Given the description of an element on the screen output the (x, y) to click on. 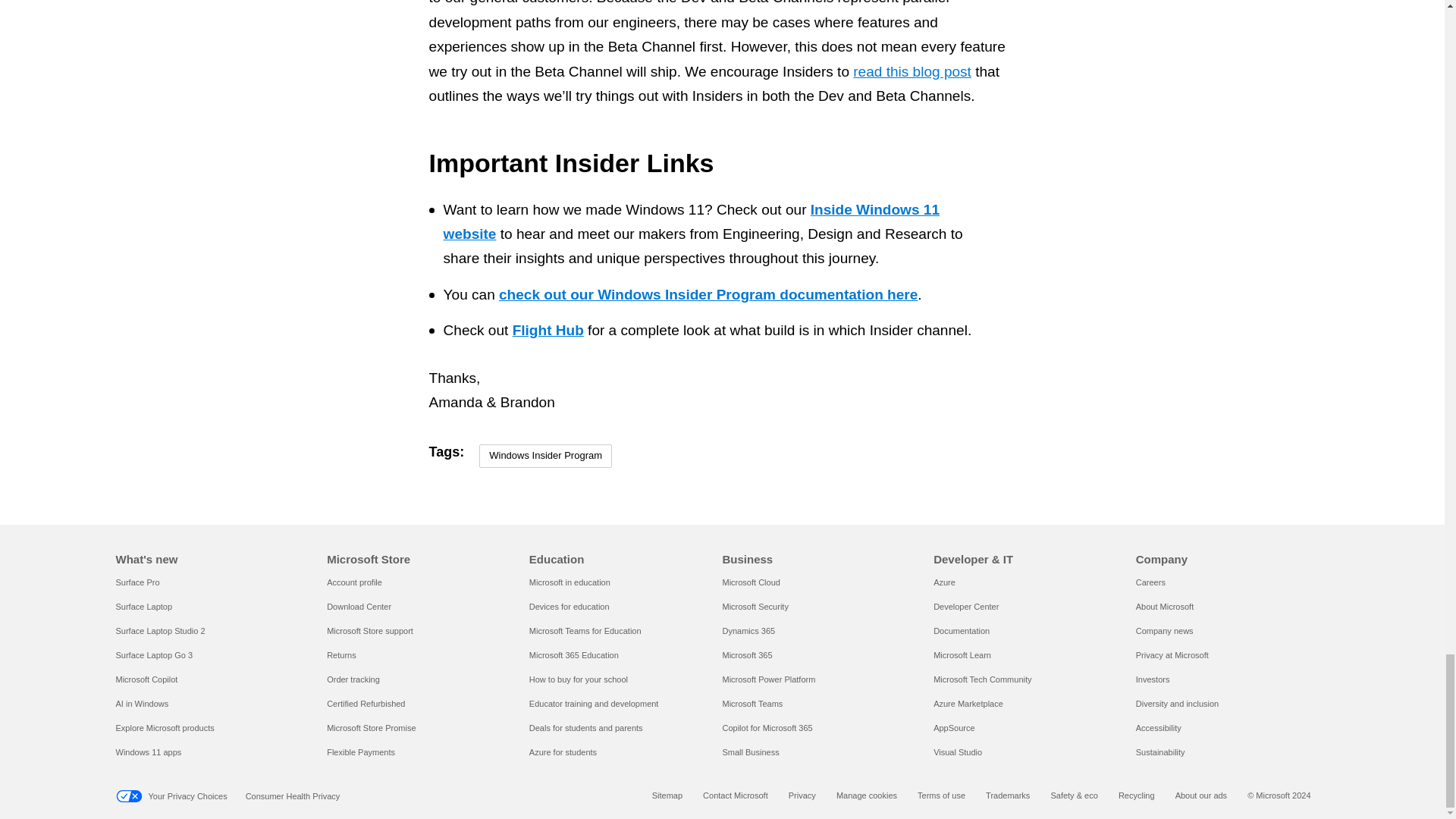
Windows Insider Program Tag (545, 455)
